Given the description of an element on the screen output the (x, y) to click on. 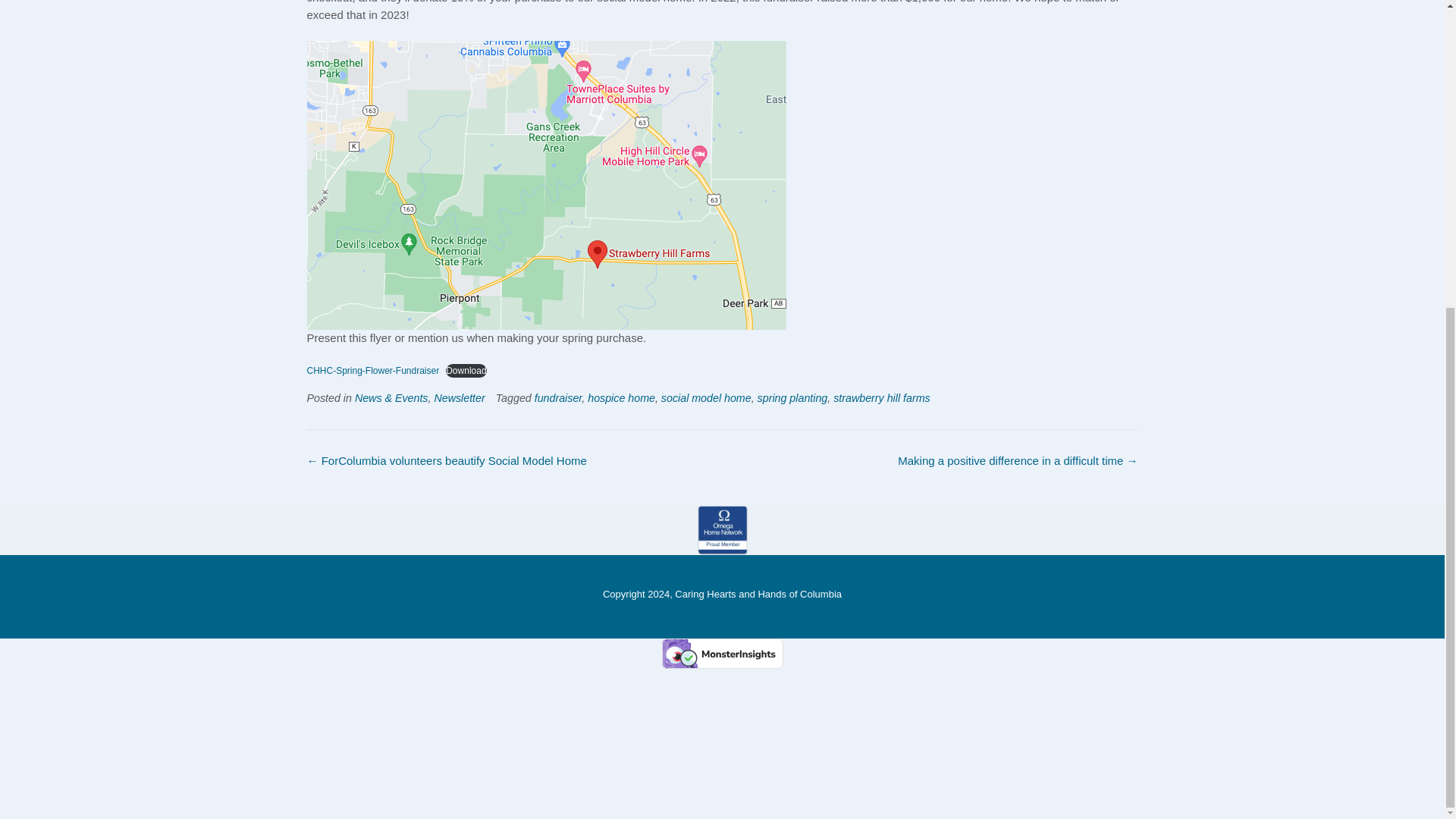
Verified by MonsterInsights (722, 653)
spring planting (792, 398)
strawberry hill farms (881, 398)
Download (465, 370)
social model home (706, 398)
CHHC-Spring-Flower-Fundraiser (372, 370)
hospice home (621, 398)
fundraiser (558, 398)
Newsletter (458, 398)
